Given the description of an element on the screen output the (x, y) to click on. 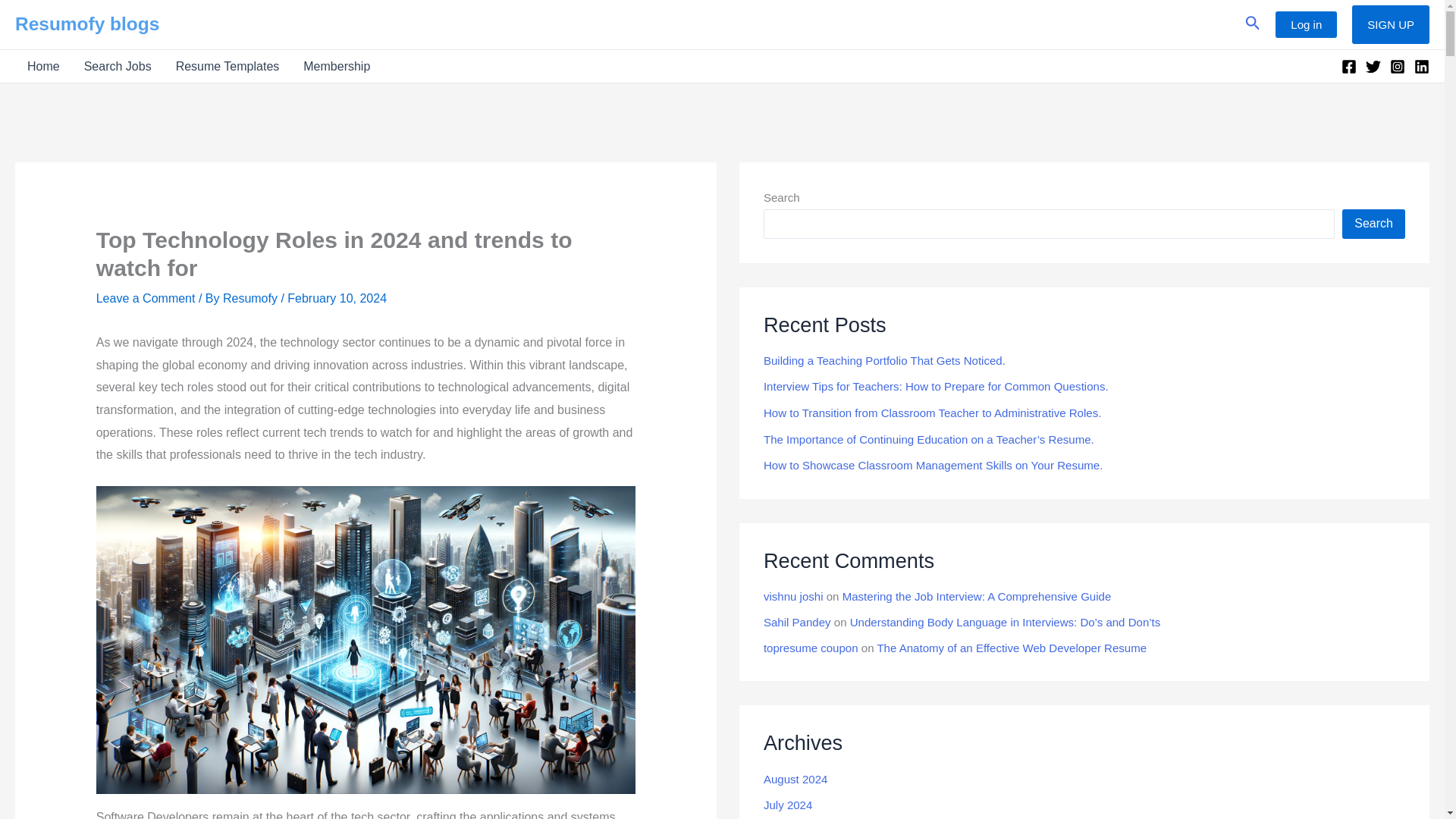
Leave a Comment (145, 297)
Membership (336, 65)
View all posts by Resumofy (251, 297)
Home (42, 65)
Resume Templates (227, 65)
Membership (336, 65)
SIGN UP (1390, 24)
Resumofy blogs (86, 23)
Log in (1305, 24)
Resumofy Home (42, 65)
